Given the description of an element on the screen output the (x, y) to click on. 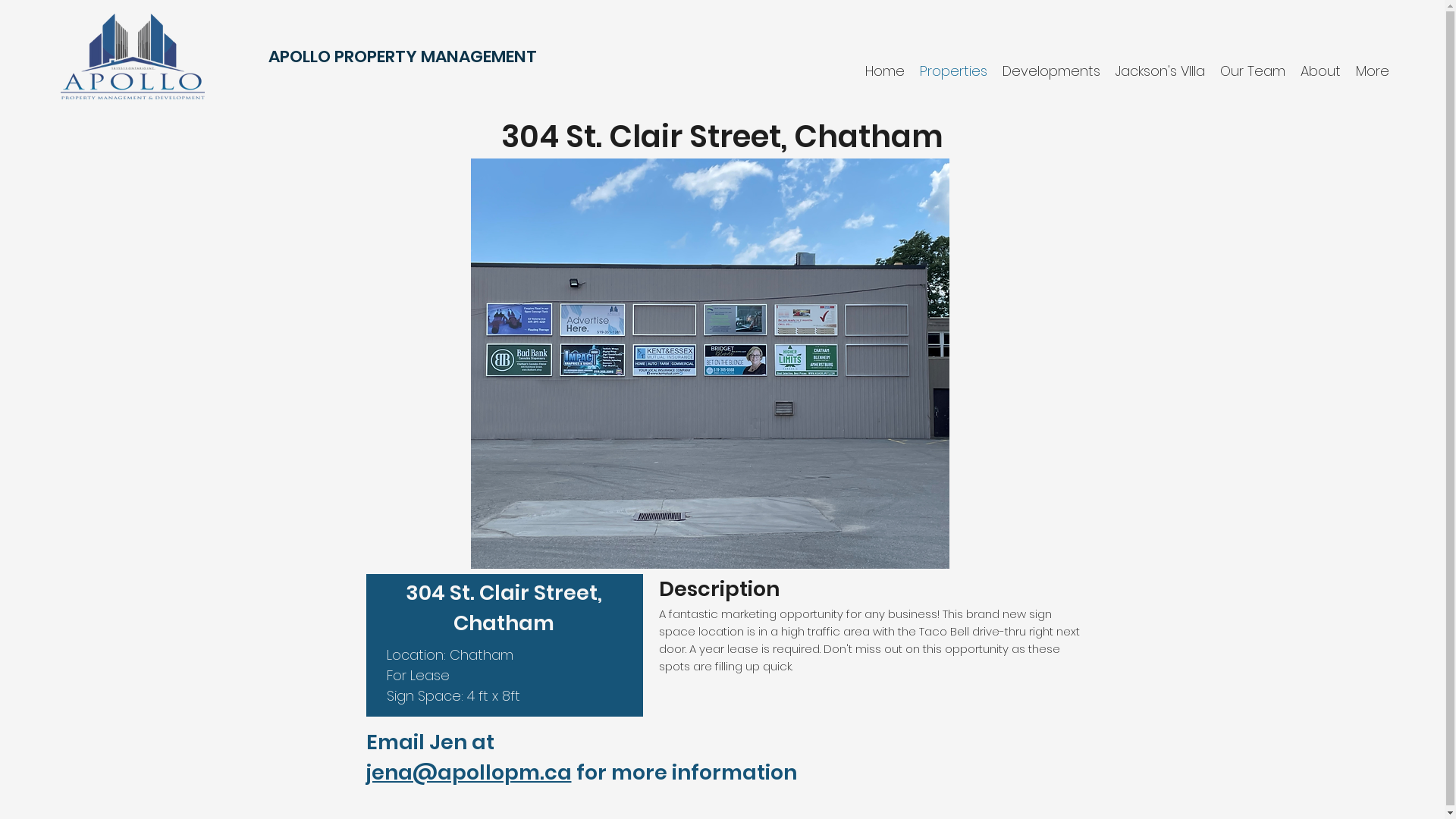
About Element type: text (1320, 71)
Our Team Element type: text (1252, 71)
APOLLO PROPERTY MANAGEMENT Element type: text (402, 56)
Jackson's VIlla Element type: text (1159, 71)
jena@apollopm.ca Element type: text (468, 772)
Home Element type: text (884, 71)
Developments Element type: text (1050, 71)
Properties Element type: text (953, 71)
